Given the description of an element on the screen output the (x, y) to click on. 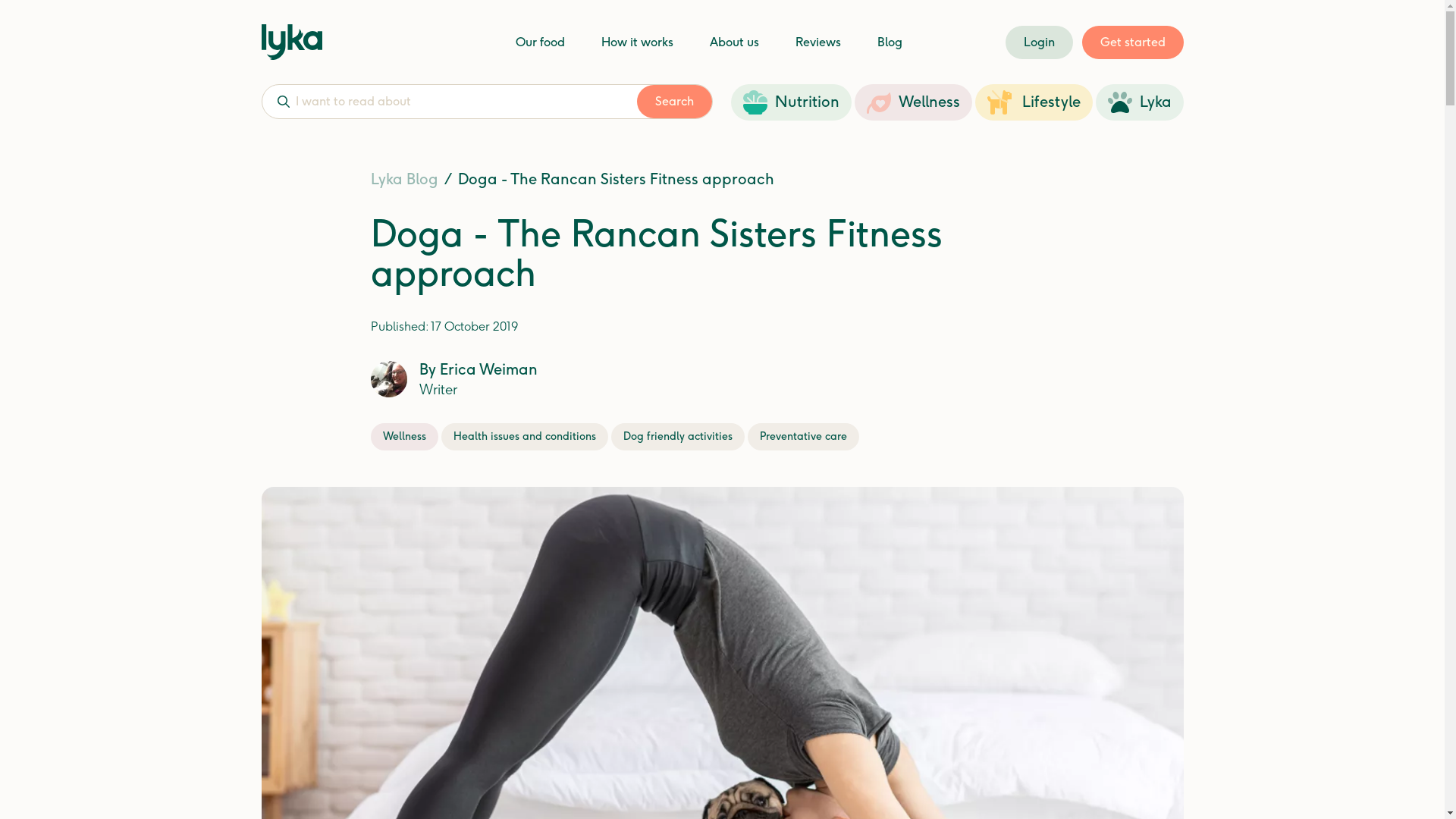
Wellness Element type: text (912, 102)
Wellness Element type: text (403, 436)
Dog friendly activities Element type: text (677, 436)
About us Element type: text (734, 42)
Lifestyle Element type: text (1033, 102)
Doga - The Rancan Sisters Fitness approach Element type: text (616, 179)
Blog Element type: text (888, 42)
Health issues and conditions Element type: text (524, 436)
Nutrition Element type: text (791, 102)
Reviews Element type: text (817, 42)
Our food Element type: text (540, 42)
How it works Element type: text (636, 42)
Get started Element type: text (1132, 42)
Search Element type: text (674, 101)
Preventative care Element type: text (803, 436)
Login Element type: text (1039, 42)
Lyka Element type: text (1139, 102)
Lyka Blog Element type: text (403, 179)
